Given the description of an element on the screen output the (x, y) to click on. 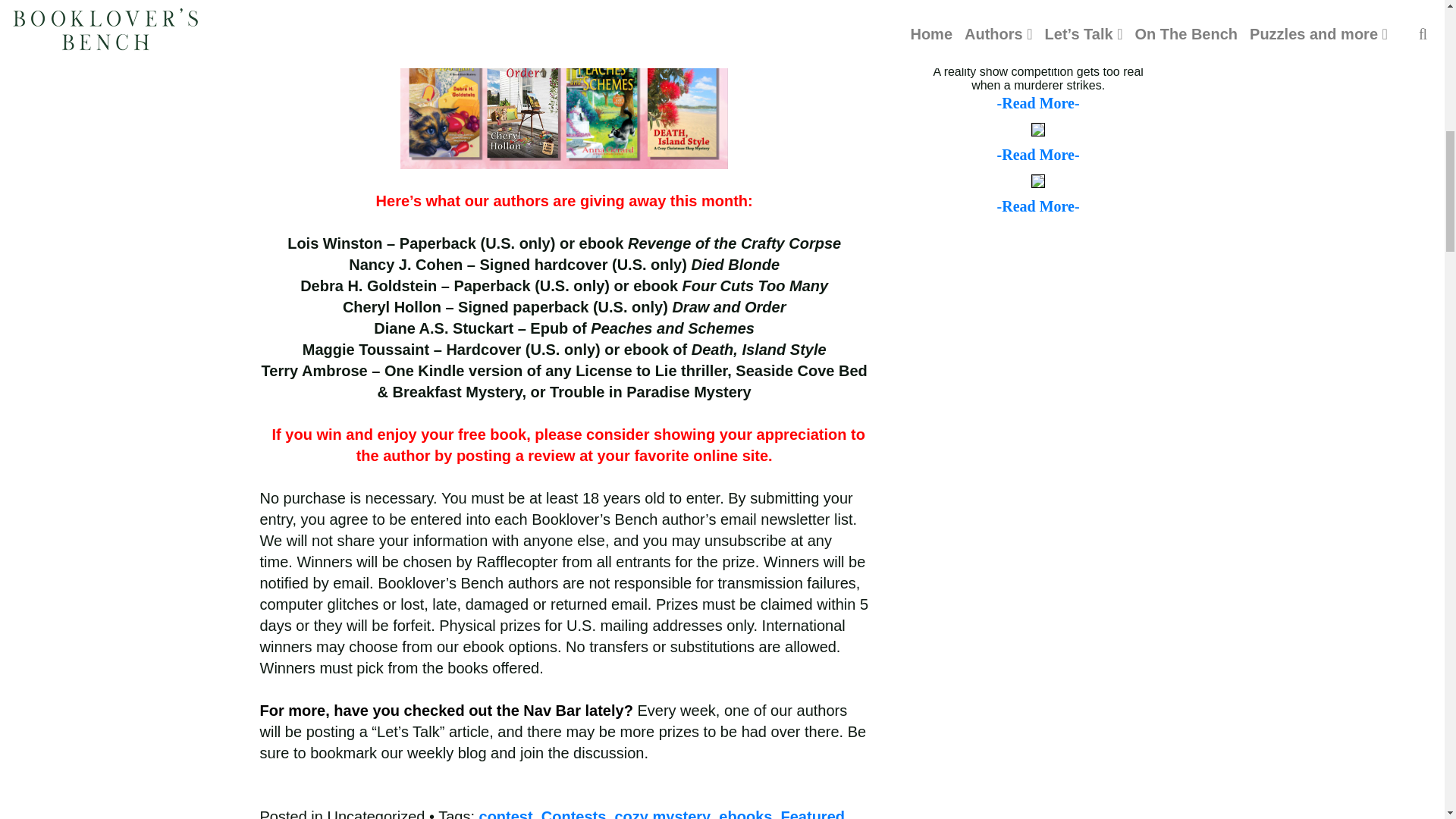
Contests (574, 813)
ebooks (745, 813)
Featured (812, 813)
contest (505, 813)
cozy mystery (662, 813)
